Given the description of an element on the screen output the (x, y) to click on. 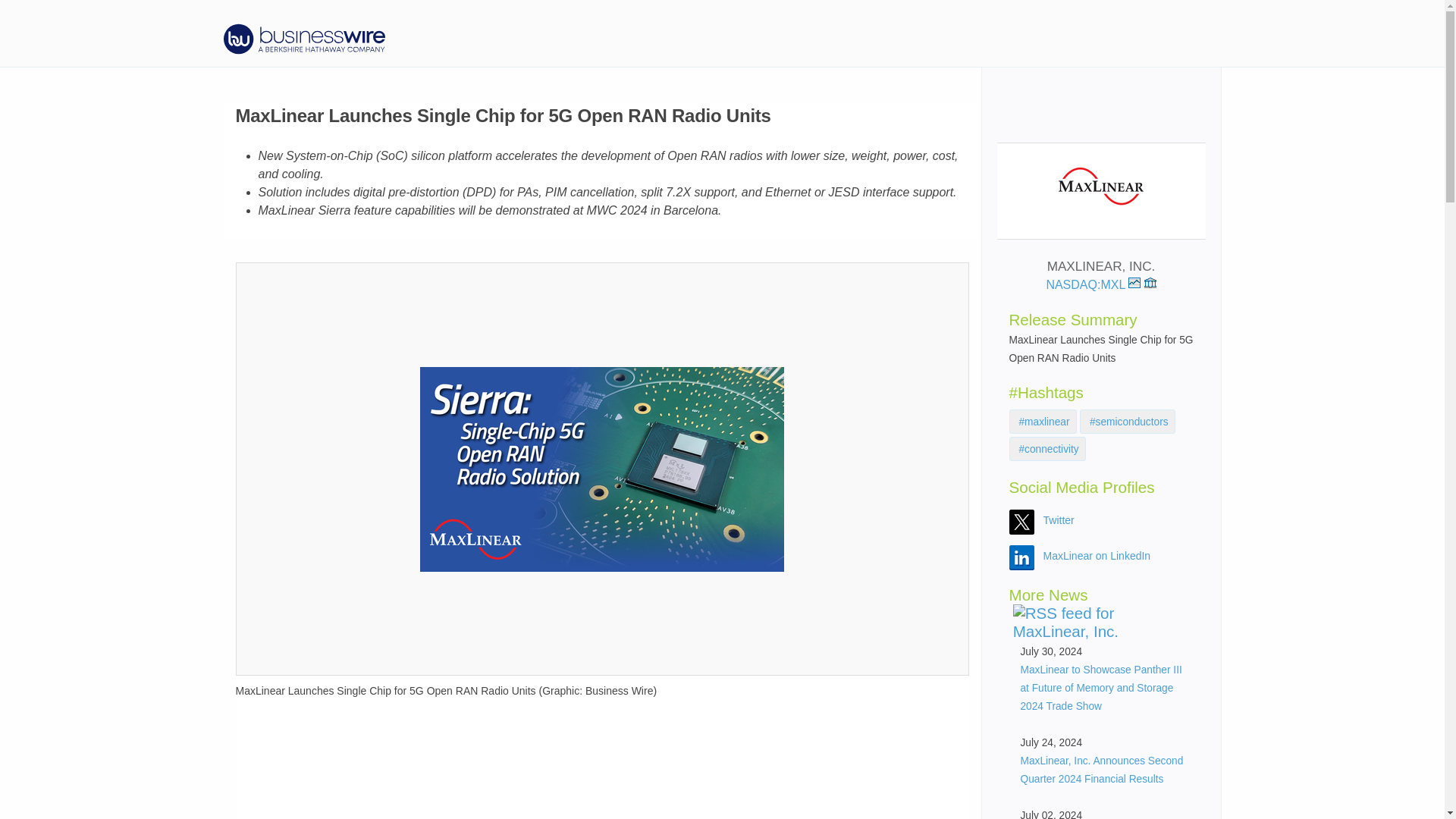
NASDAQ:MXL (1092, 284)
Twitter (1058, 520)
MaxLinear on LinkedIn (1097, 555)
